Given the description of an element on the screen output the (x, y) to click on. 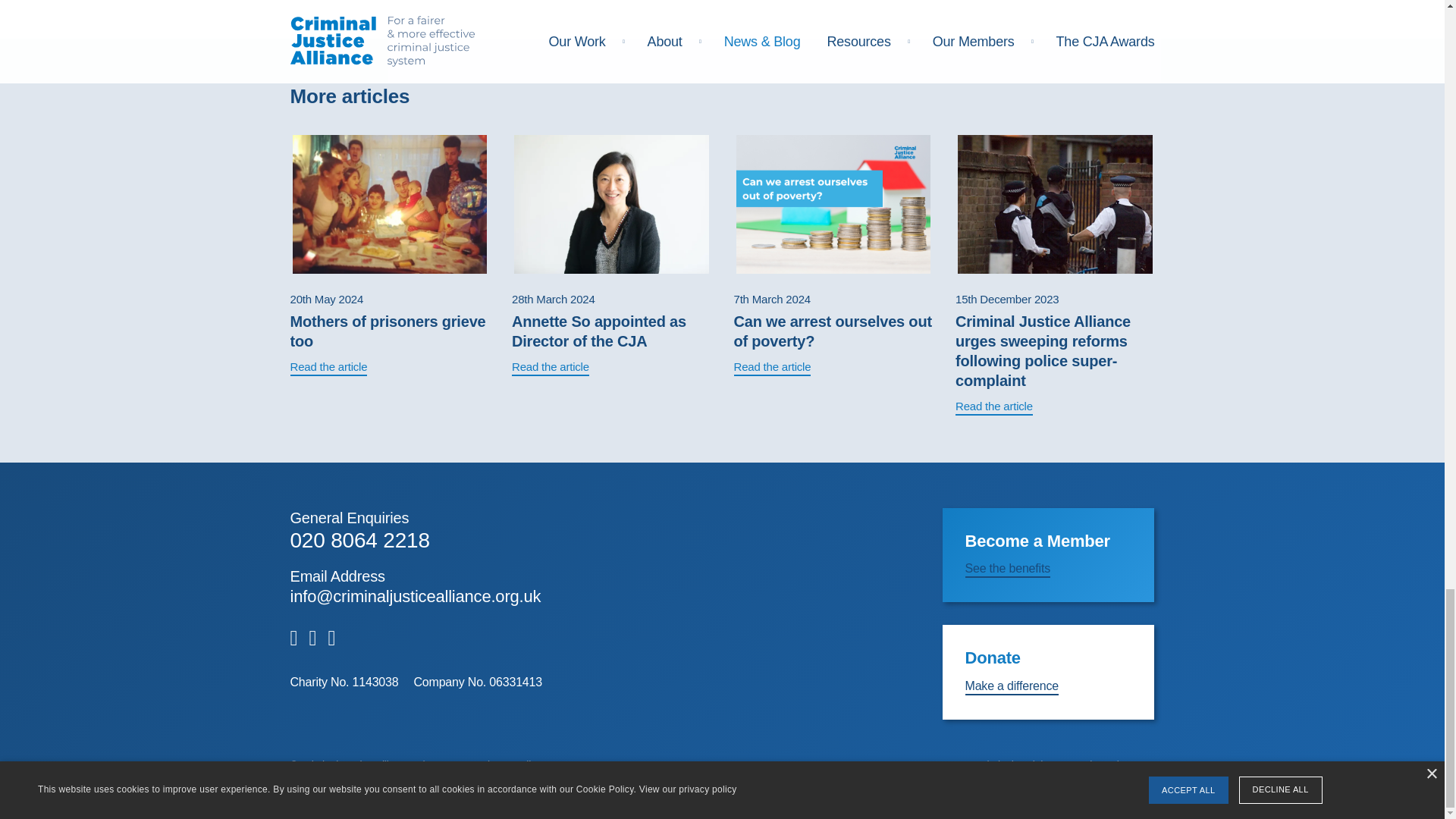
Web Design Kent (1114, 765)
